Given the description of an element on the screen output the (x, y) to click on. 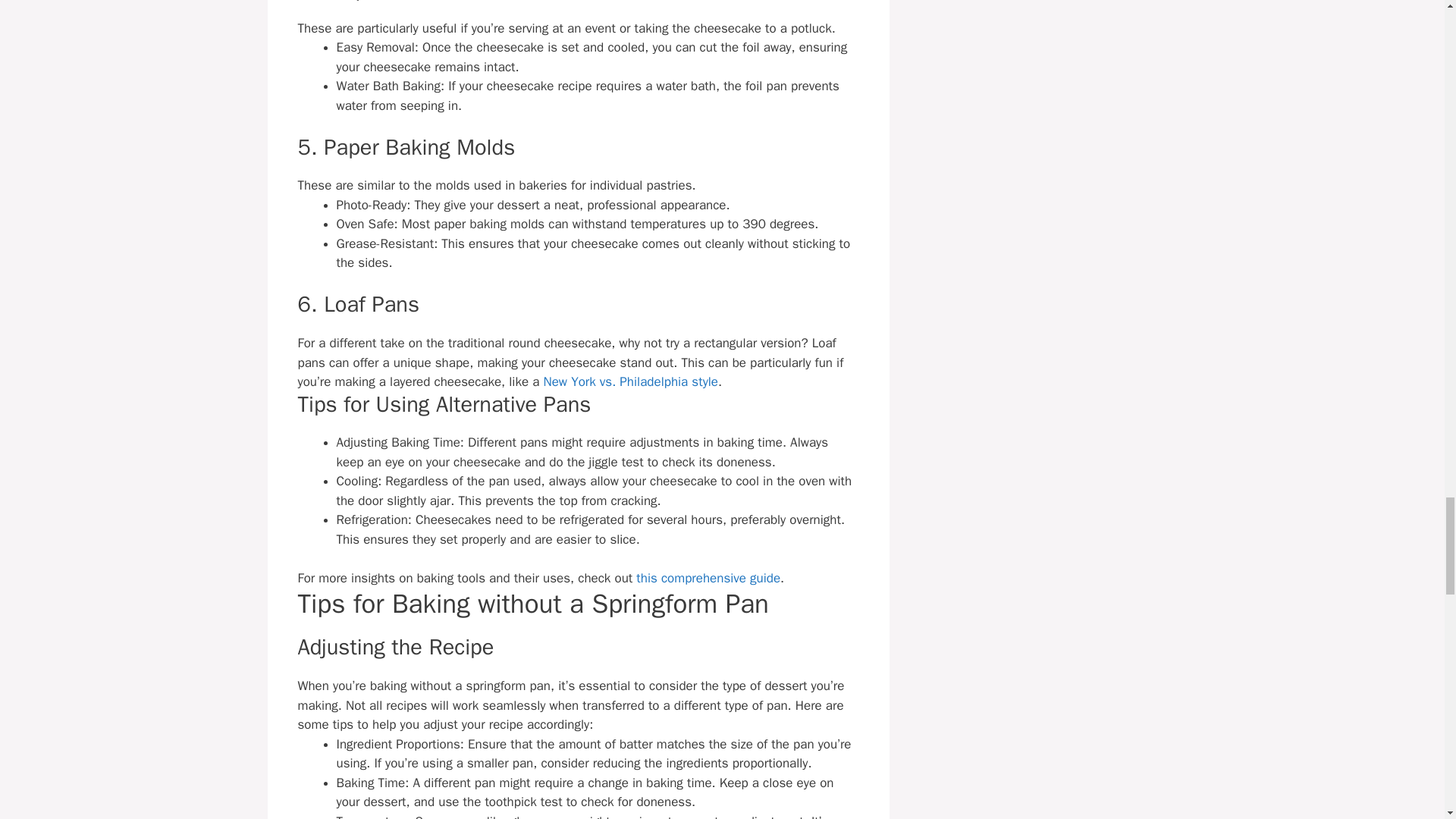
New York vs. Philadelphia style (630, 381)
